Given the description of an element on the screen output the (x, y) to click on. 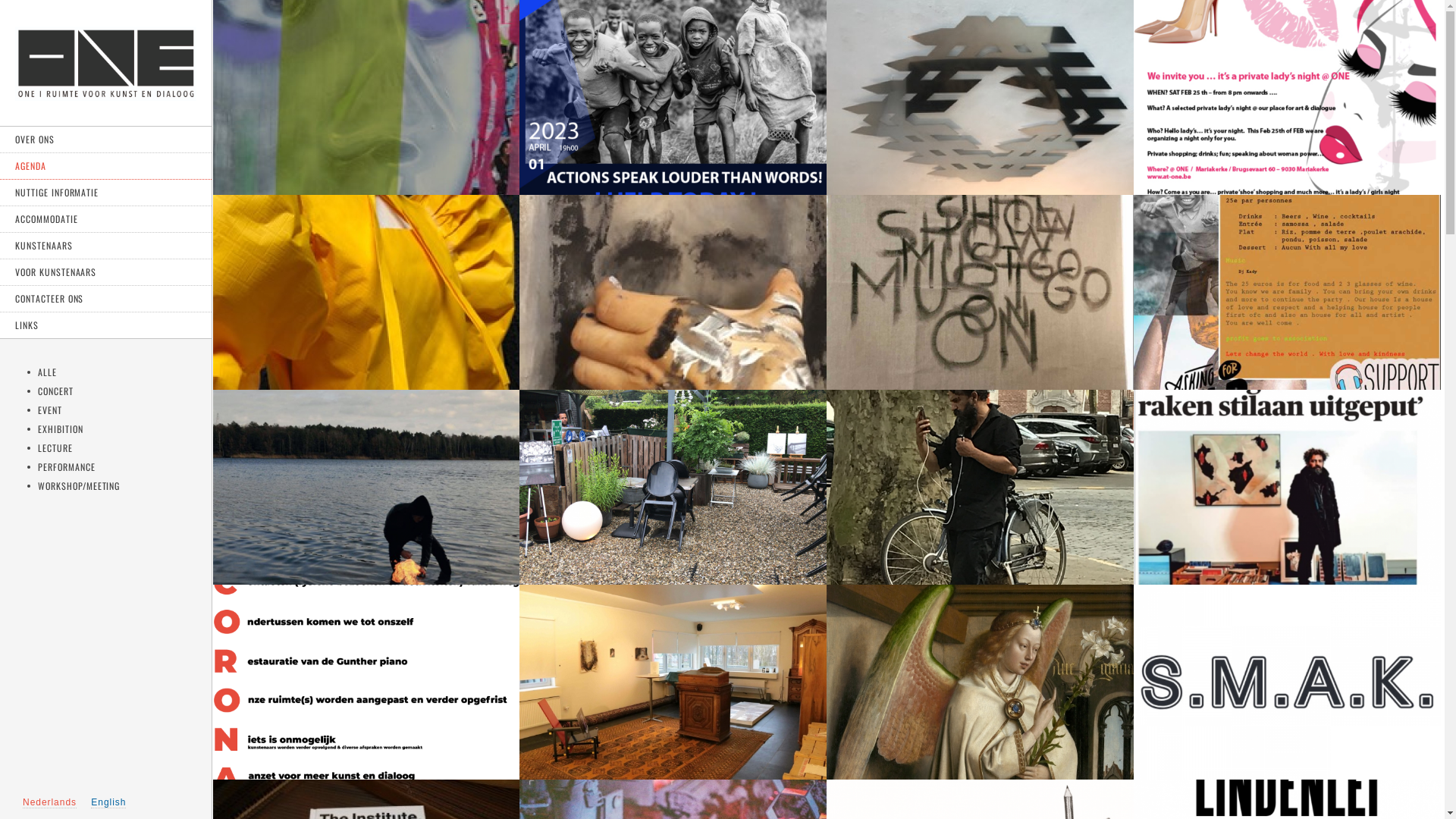
Actions speak louder than words Element type: hover (672, 97)
Home Element type: hover (105, 94)
KUNSTENAARS Element type: text (105, 245)
ALLE Element type: text (46, 371)
CONTACTEER ONS Element type: text (105, 298)
OVER ONS Element type: text (105, 139)
WORKSHOP/MEETING Element type: text (78, 485)
CONCERT Element type: text (55, 390)
S.M.A.K. Element type: hover (1286, 681)
PERFORMANCE Element type: text (66, 466)
EVENT Element type: text (49, 409)
NUTTIGE INFORMATIE Element type: text (105, 192)
English Element type: text (108, 802)
EXHIBITION Element type: text (60, 428)
AGENDA Element type: text (105, 166)
LECTURE Element type: text (54, 447)
ACCOMMODATIE Element type: text (105, 219)
Nederlands Element type: text (49, 802)
VOOR KUNSTENAARS Element type: text (105, 272)
LINKS Element type: text (105, 325)
